Given the description of an element on the screen output the (x, y) to click on. 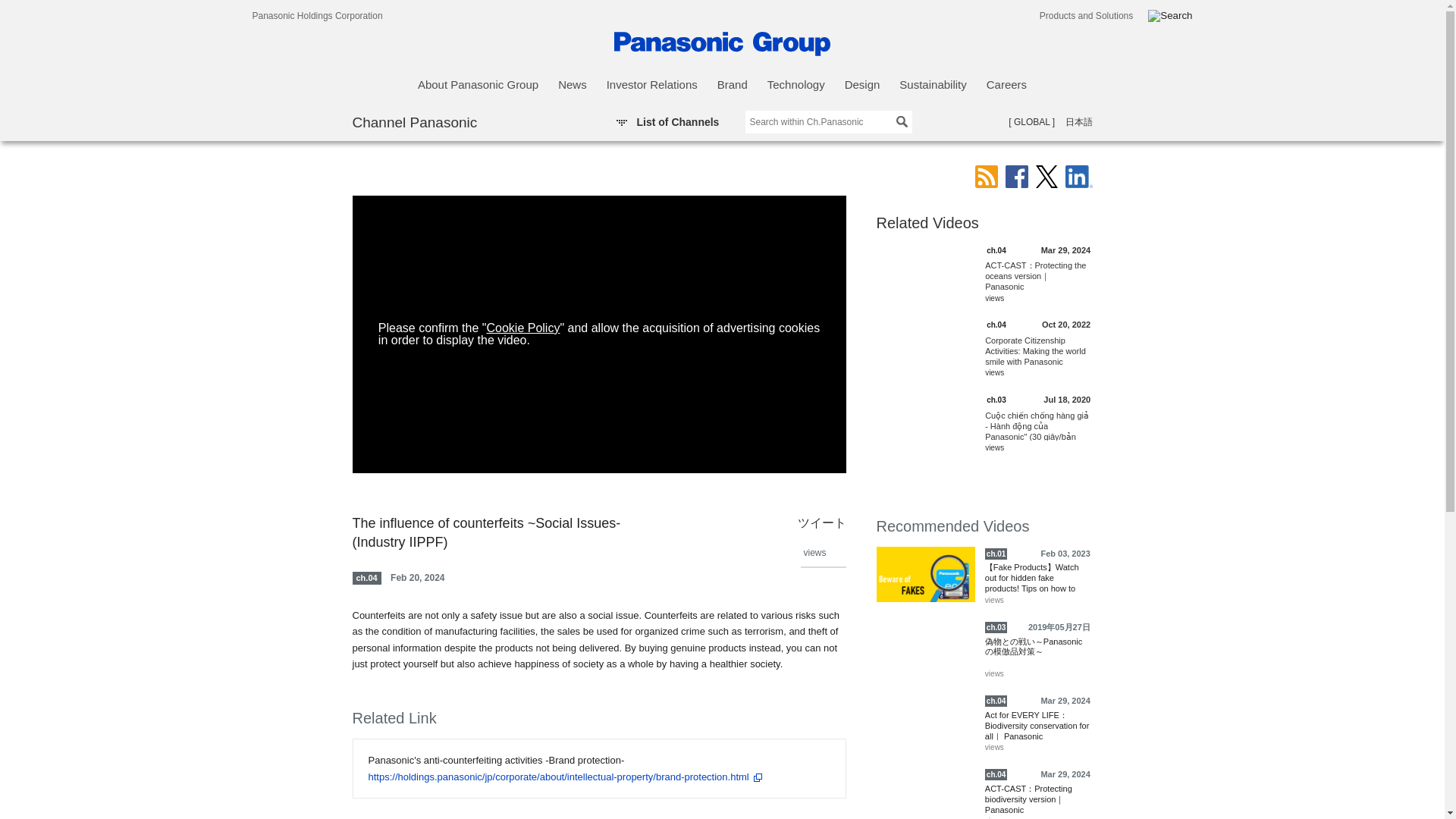
Keywords (827, 121)
Technology (796, 85)
List of Channels (667, 121)
Design (862, 85)
GLOBAL (1031, 122)
About Panasonic Group (477, 85)
Brand (732, 85)
Investor Relations (652, 85)
Channel Panasonic (414, 121)
Panasonic Holdings Corporation (316, 15)
